Given the description of an element on the screen output the (x, y) to click on. 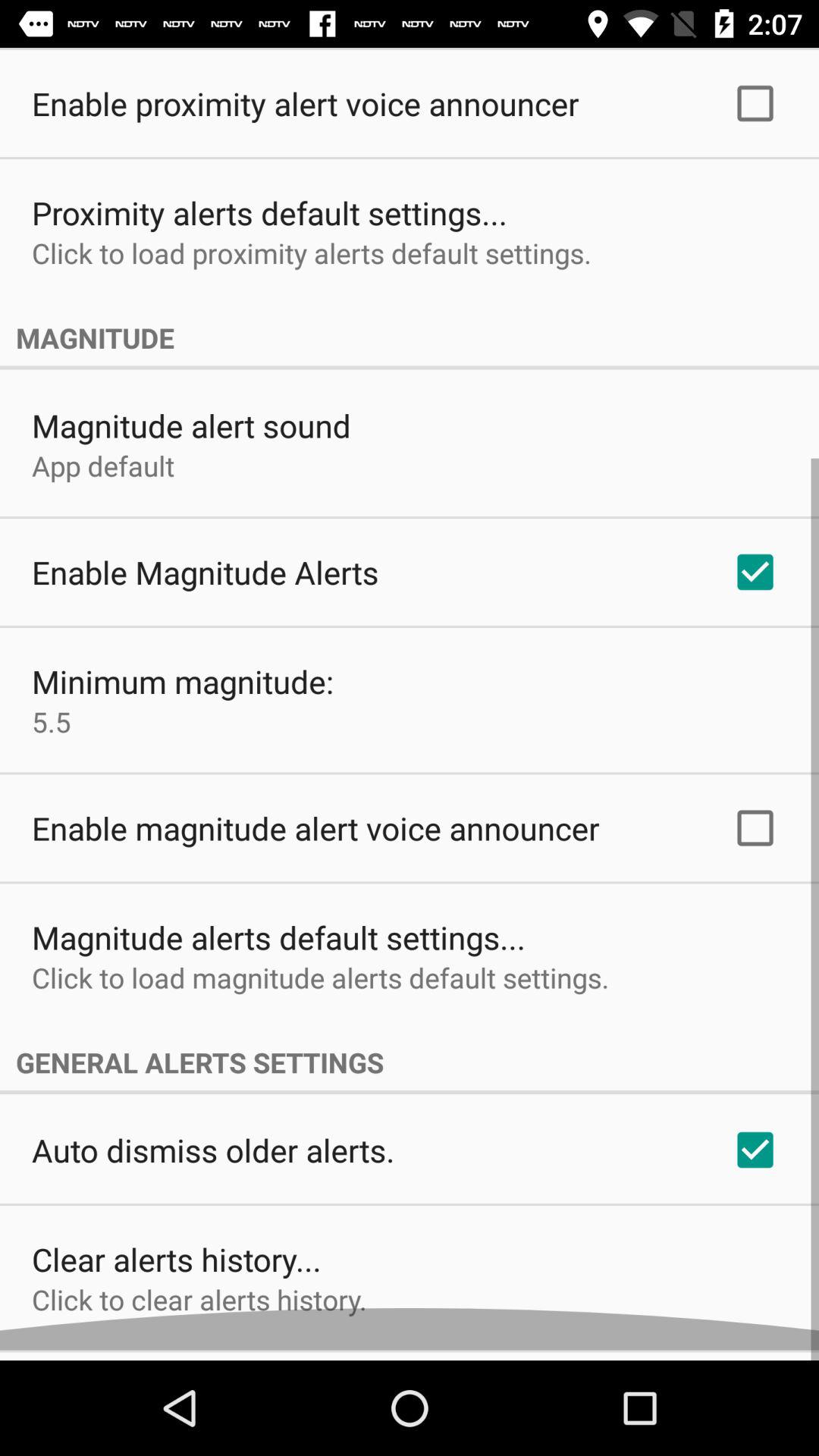
open the app above 5.5 (182, 691)
